Given the description of an element on the screen output the (x, y) to click on. 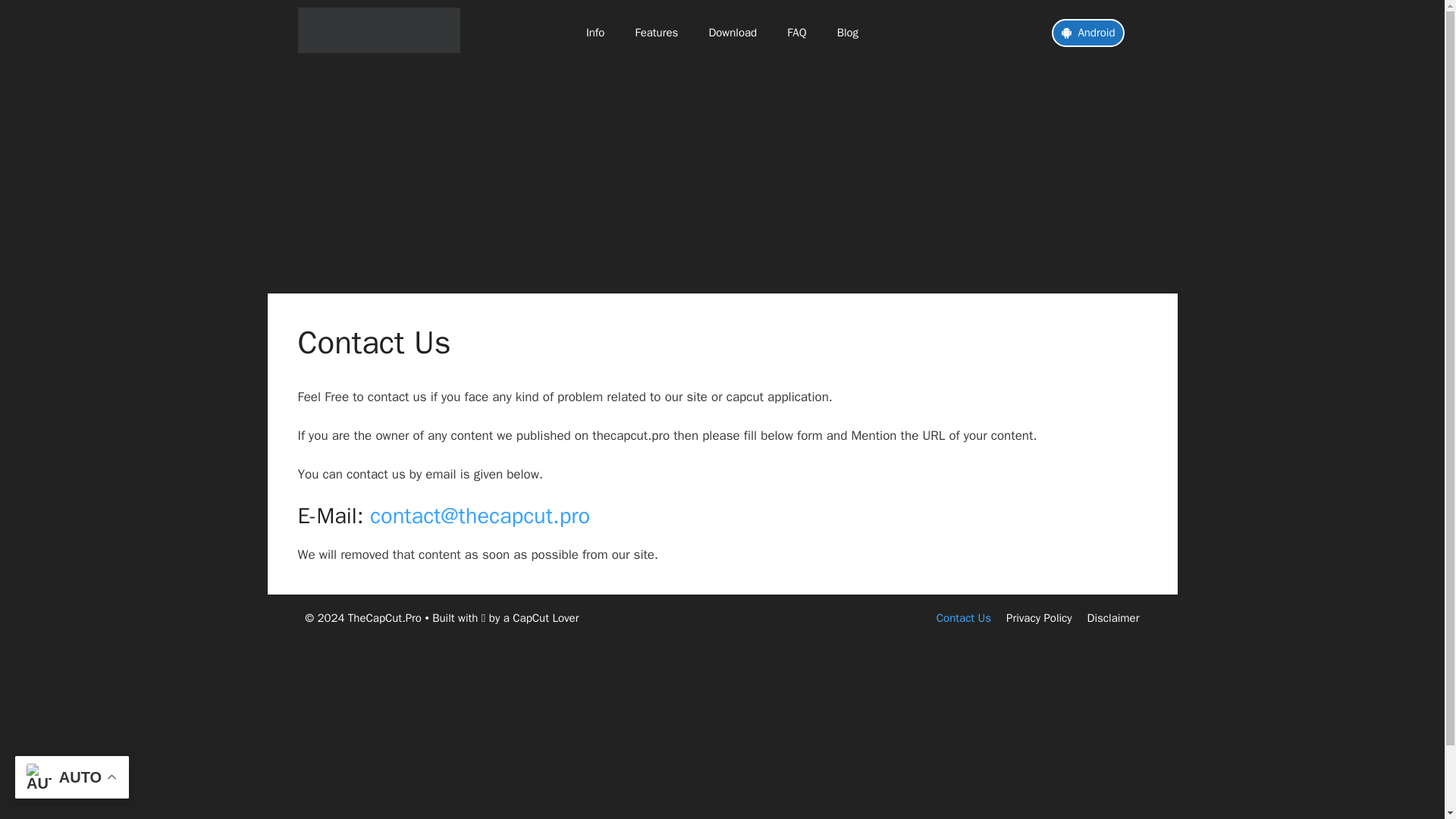
Blog (847, 32)
Disclaimer (1113, 617)
Privacy Policy (1038, 617)
Info (595, 32)
Android (1087, 32)
FAQ (796, 32)
Contact Us (963, 617)
Download (732, 32)
Features (656, 32)
